Given the description of an element on the screen output the (x, y) to click on. 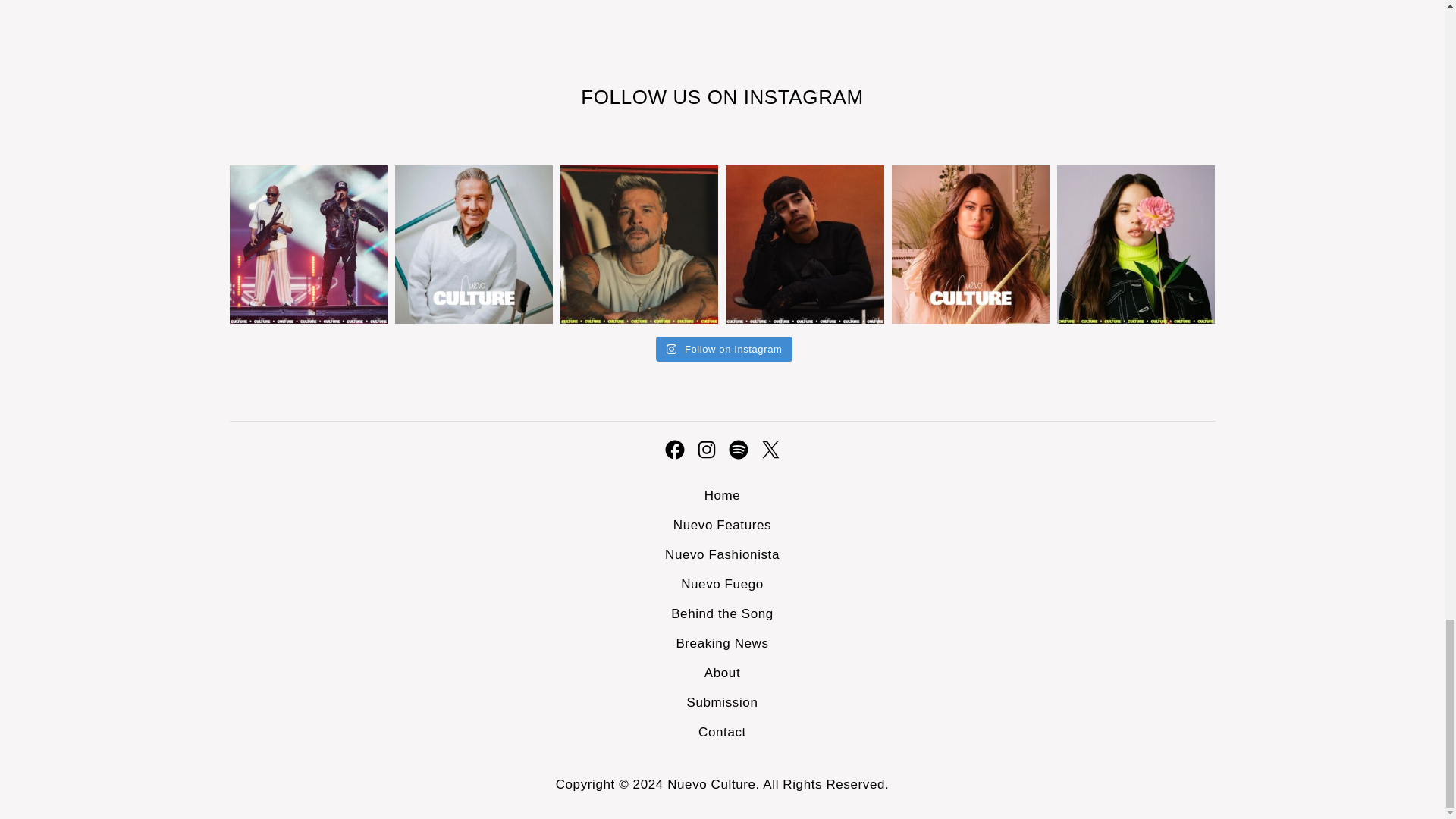
FOLLOW US ON  (661, 96)
